Given the description of an element on the screen output the (x, y) to click on. 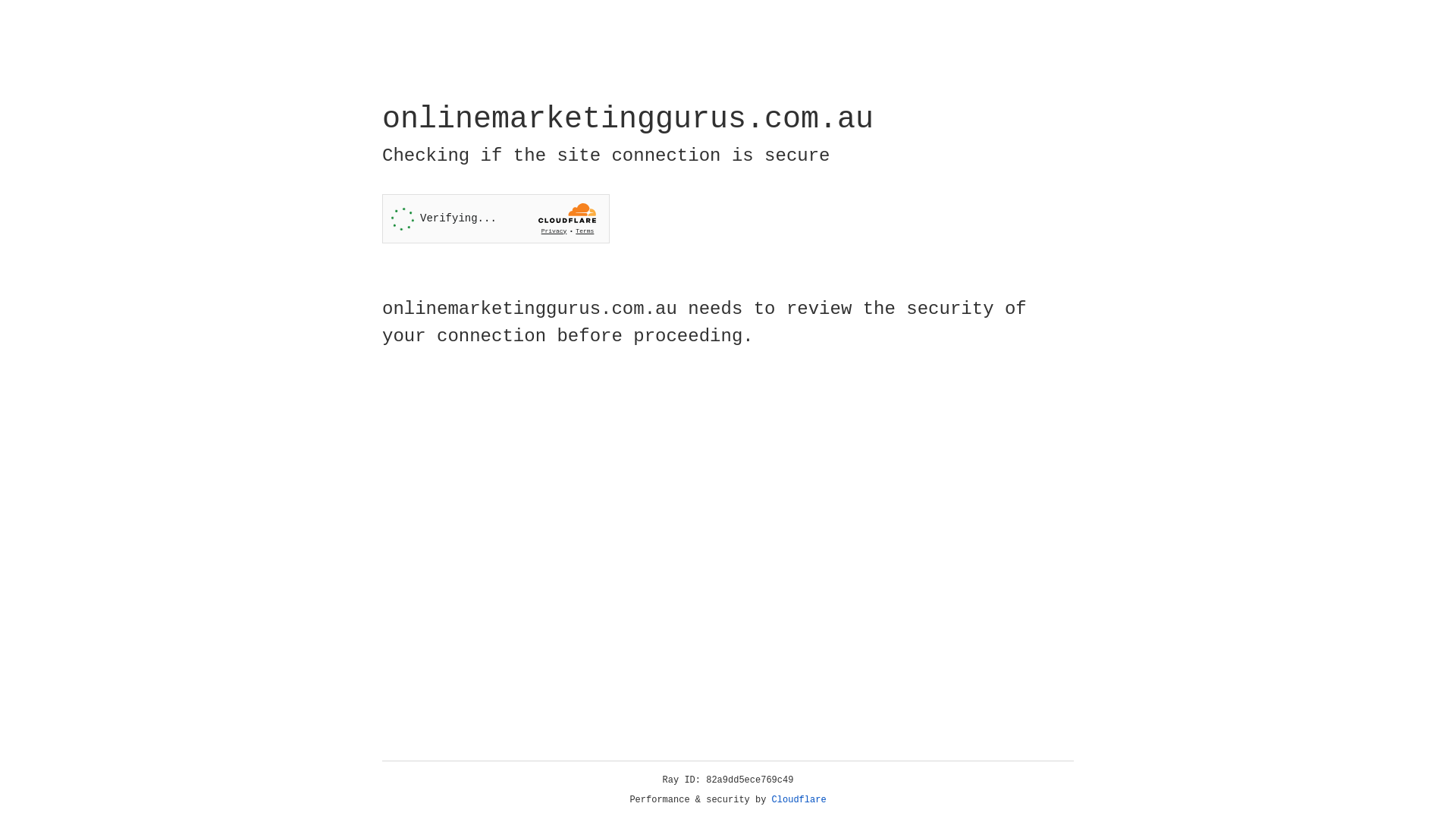
Widget containing a Cloudflare security challenge Element type: hover (495, 218)
Cloudflare Element type: text (798, 799)
